Given the description of an element on the screen output the (x, y) to click on. 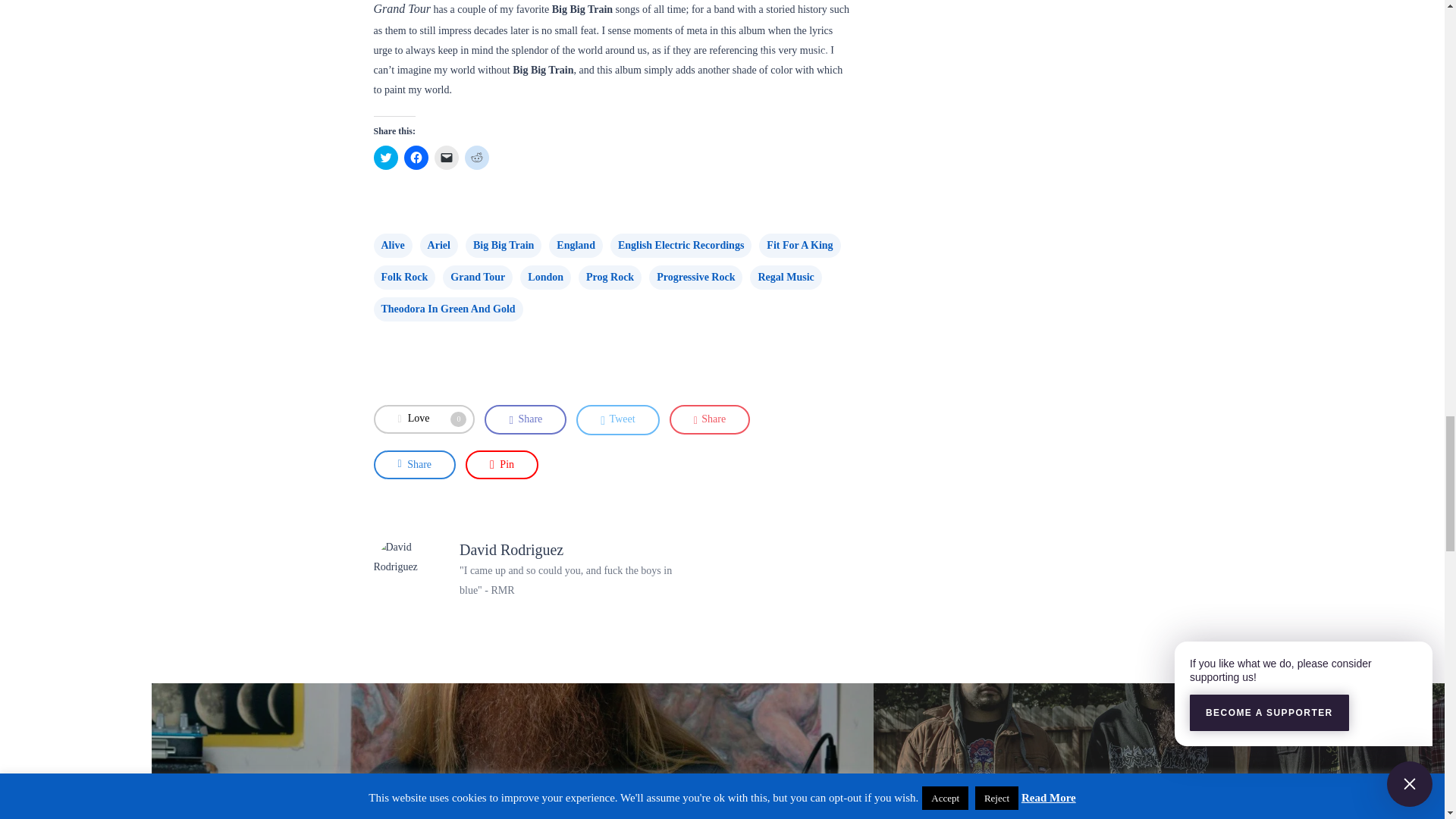
Pin this (501, 464)
Tweet this (617, 419)
Fit For A King (799, 245)
Click to email a link to a friend (445, 157)
Big Big Train (503, 245)
Click to share on Facebook (415, 157)
England (575, 245)
Share this (710, 419)
Share this (525, 419)
Ariel (439, 245)
Click to share on Twitter (384, 157)
English Electric Recordings (680, 245)
Click to share on Reddit (475, 157)
Share this (413, 464)
Love this (423, 419)
